Given the description of an element on the screen output the (x, y) to click on. 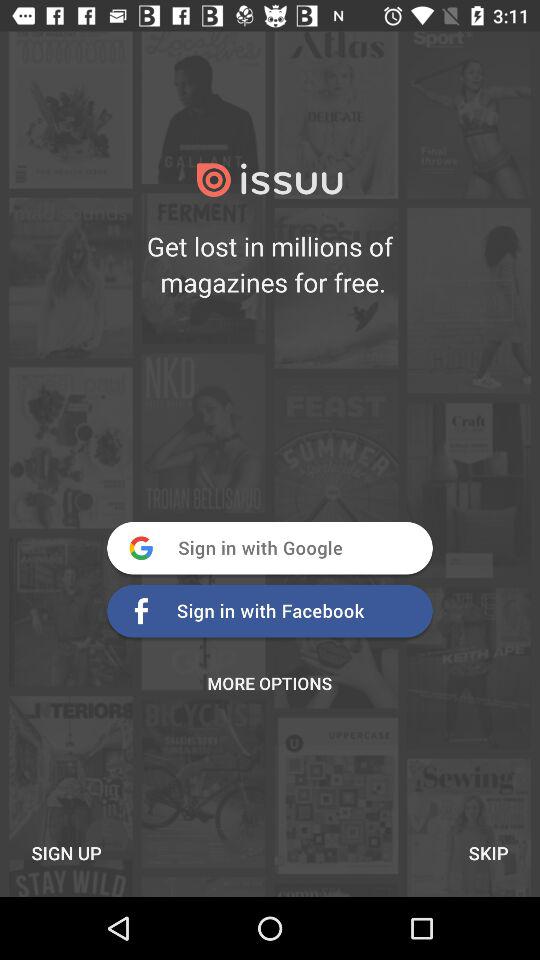
scroll to get lost in icon (269, 263)
